Given the description of an element on the screen output the (x, y) to click on. 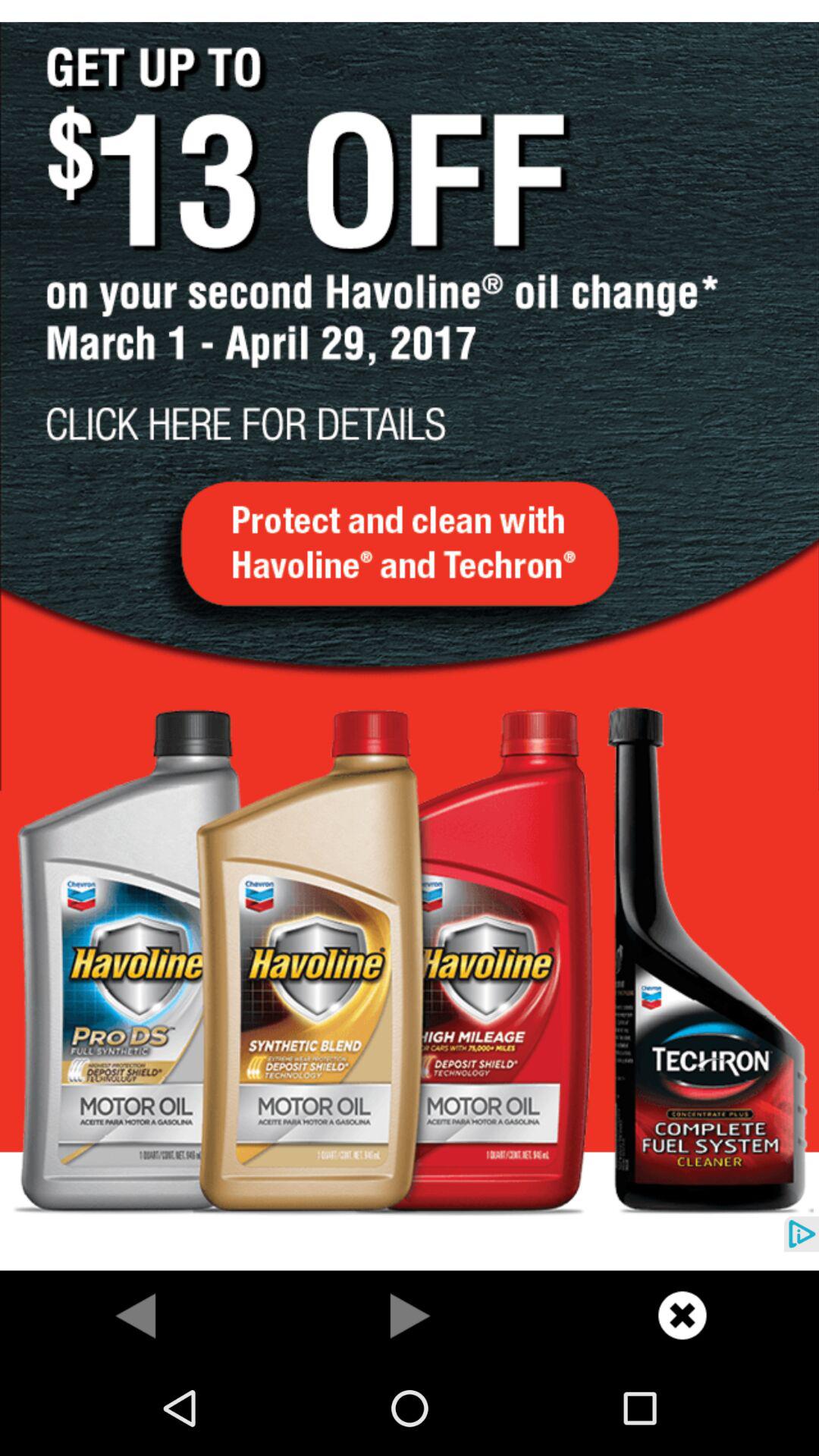
view advertisement (409, 635)
